Given the description of an element on the screen output the (x, y) to click on. 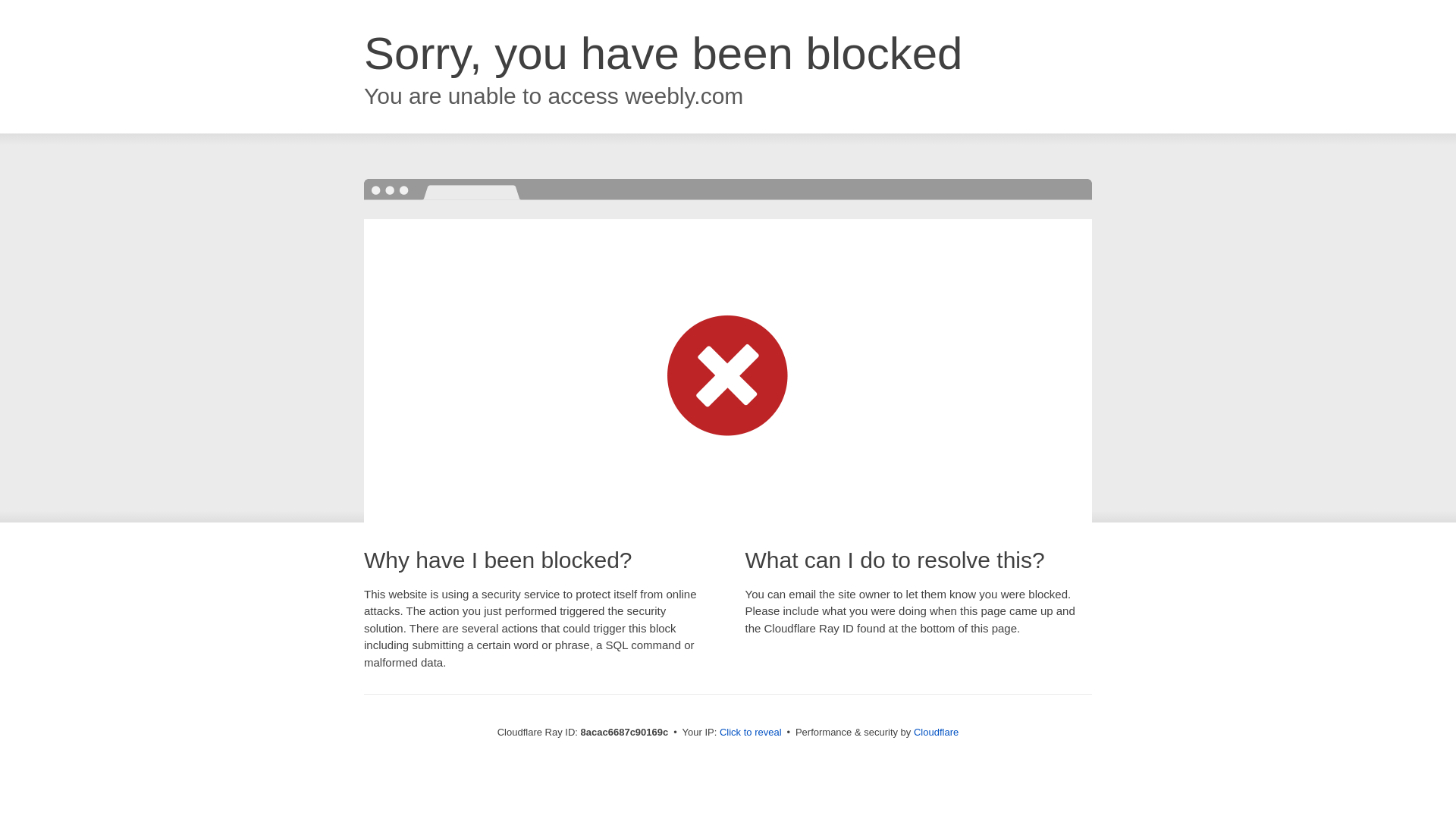
Cloudflare (936, 731)
Click to reveal (750, 732)
